Given the description of an element on the screen output the (x, y) to click on. 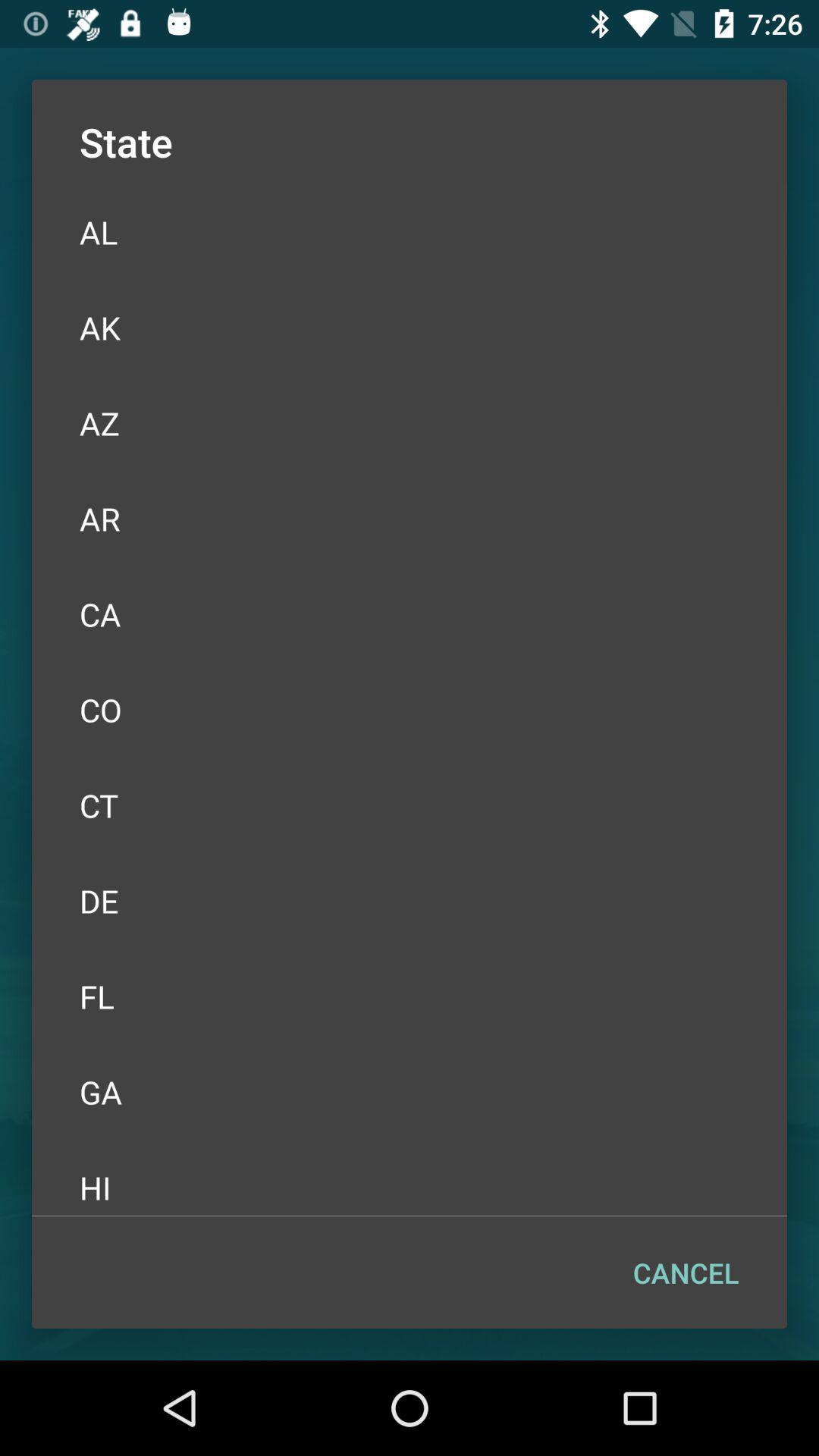
press ca item (409, 614)
